Given the description of an element on the screen output the (x, y) to click on. 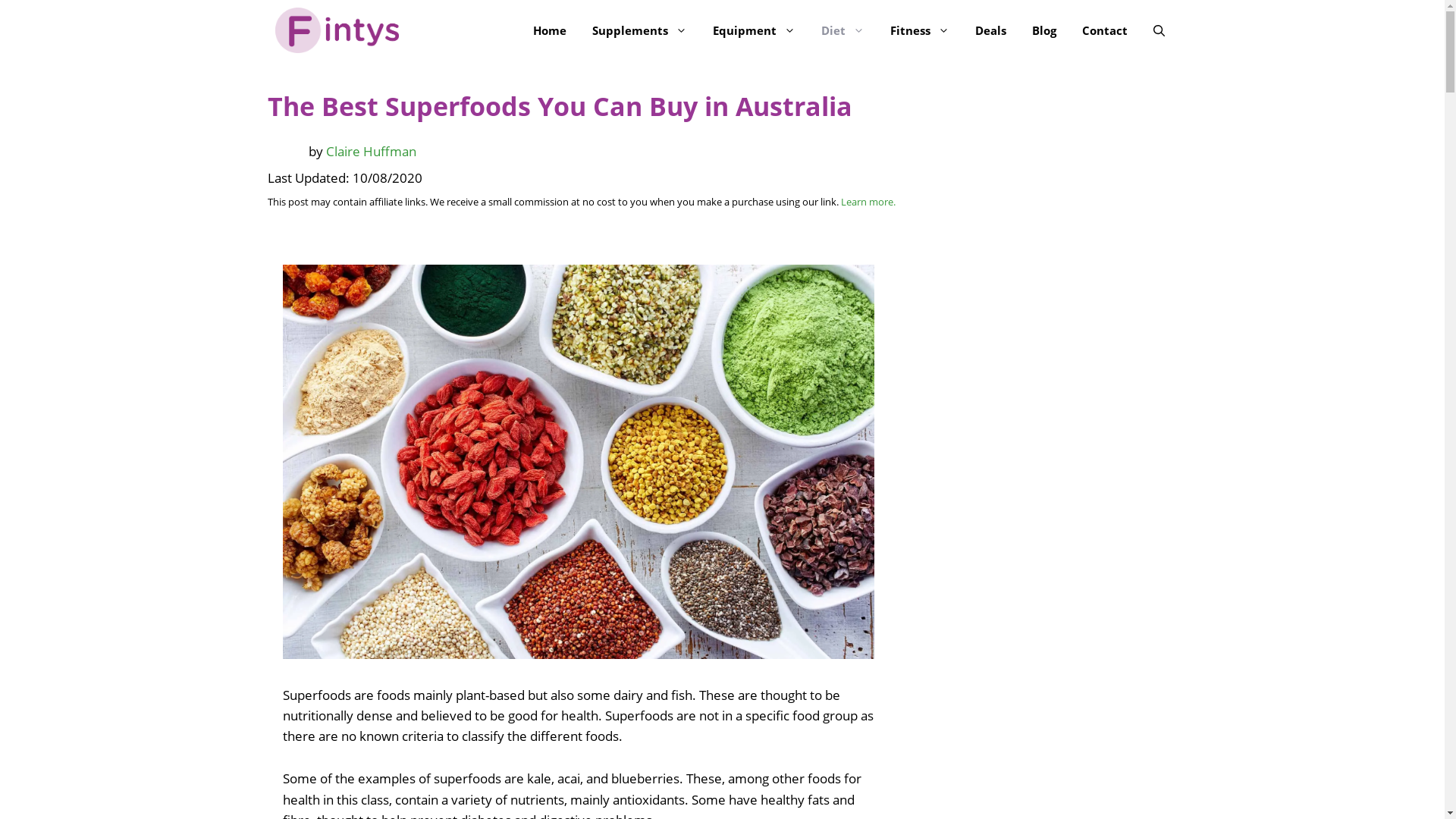
Blog Element type: text (1044, 30)
Contact Element type: text (1104, 30)
Claire Huffman Element type: text (371, 150)
Supplements Element type: text (639, 30)
Fintys Element type: hover (336, 30)
Diet Element type: text (842, 30)
Deals Element type: text (989, 30)
Fitness Element type: text (918, 30)
Learn more. Element type: text (867, 201)
Home Element type: text (549, 30)
Equipment Element type: text (753, 30)
